Given the description of an element on the screen output the (x, y) to click on. 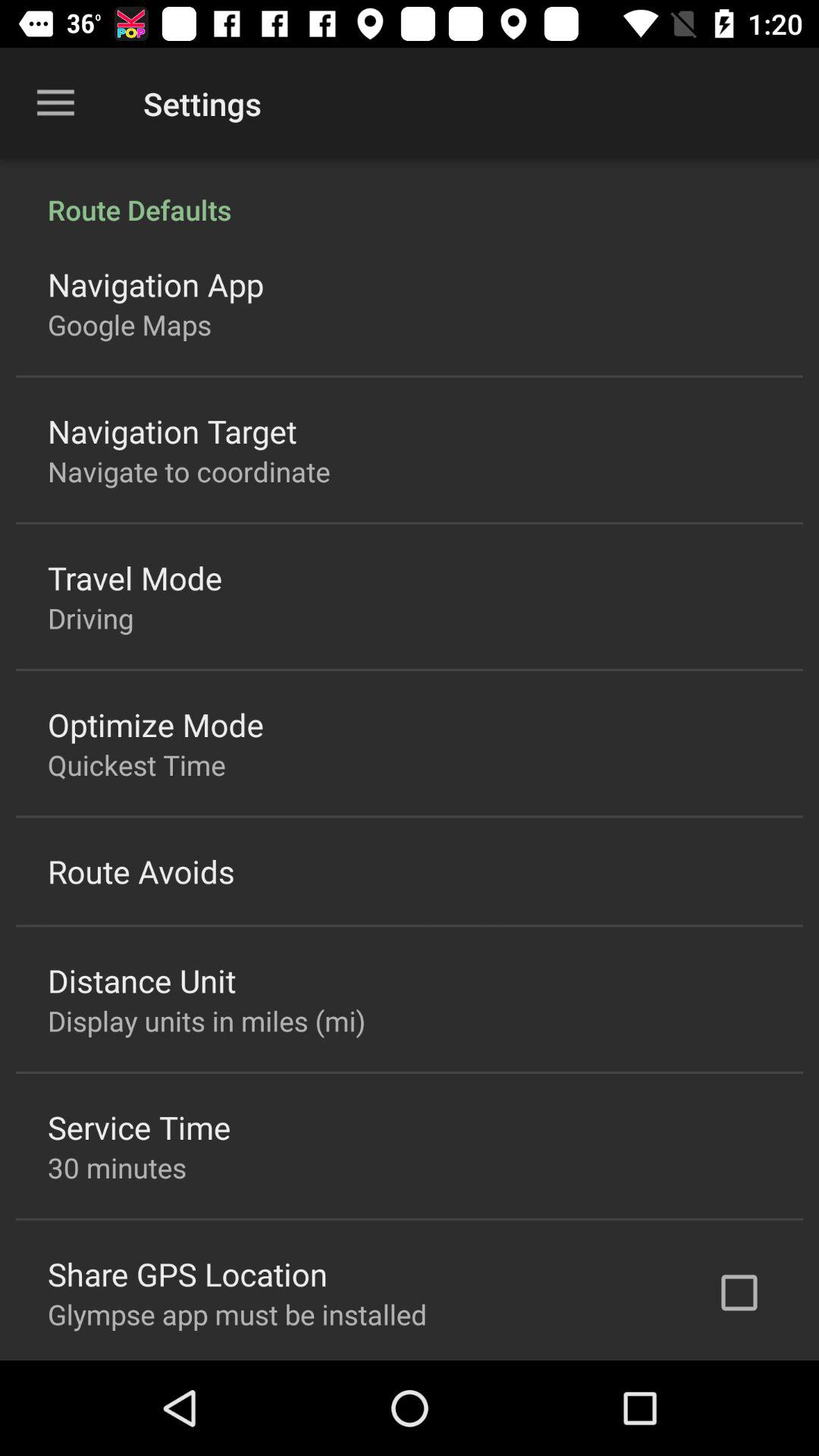
press item below display units in (138, 1126)
